Given the description of an element on the screen output the (x, y) to click on. 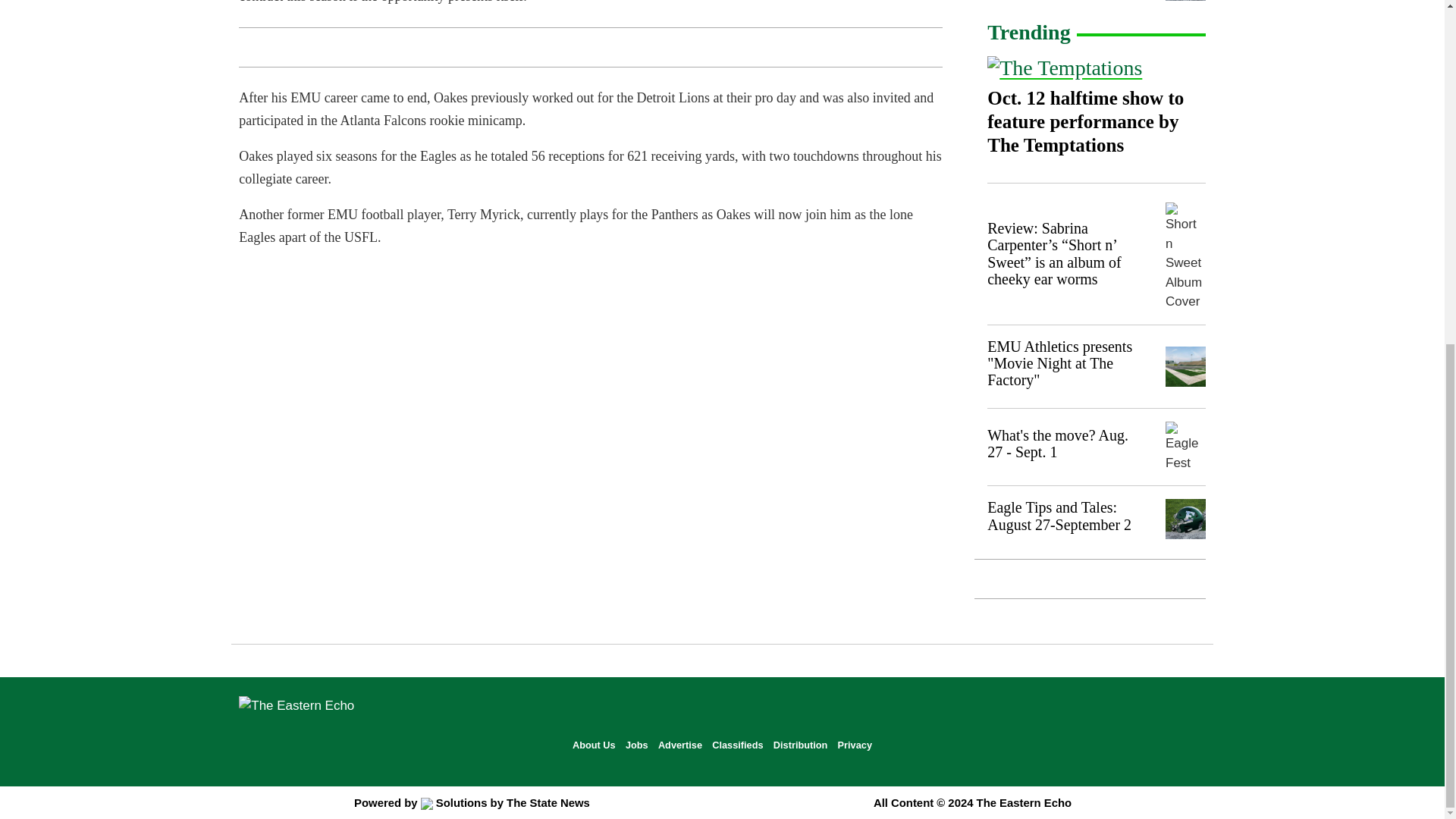
What's the move? Aug. 27 - Sept.  1 (1057, 443)
EMU Athletics presents "Movie Night at The Factory" (1059, 363)
Eagle Tips and Tales: August 27-September 2 (1059, 515)
